Given the description of an element on the screen output the (x, y) to click on. 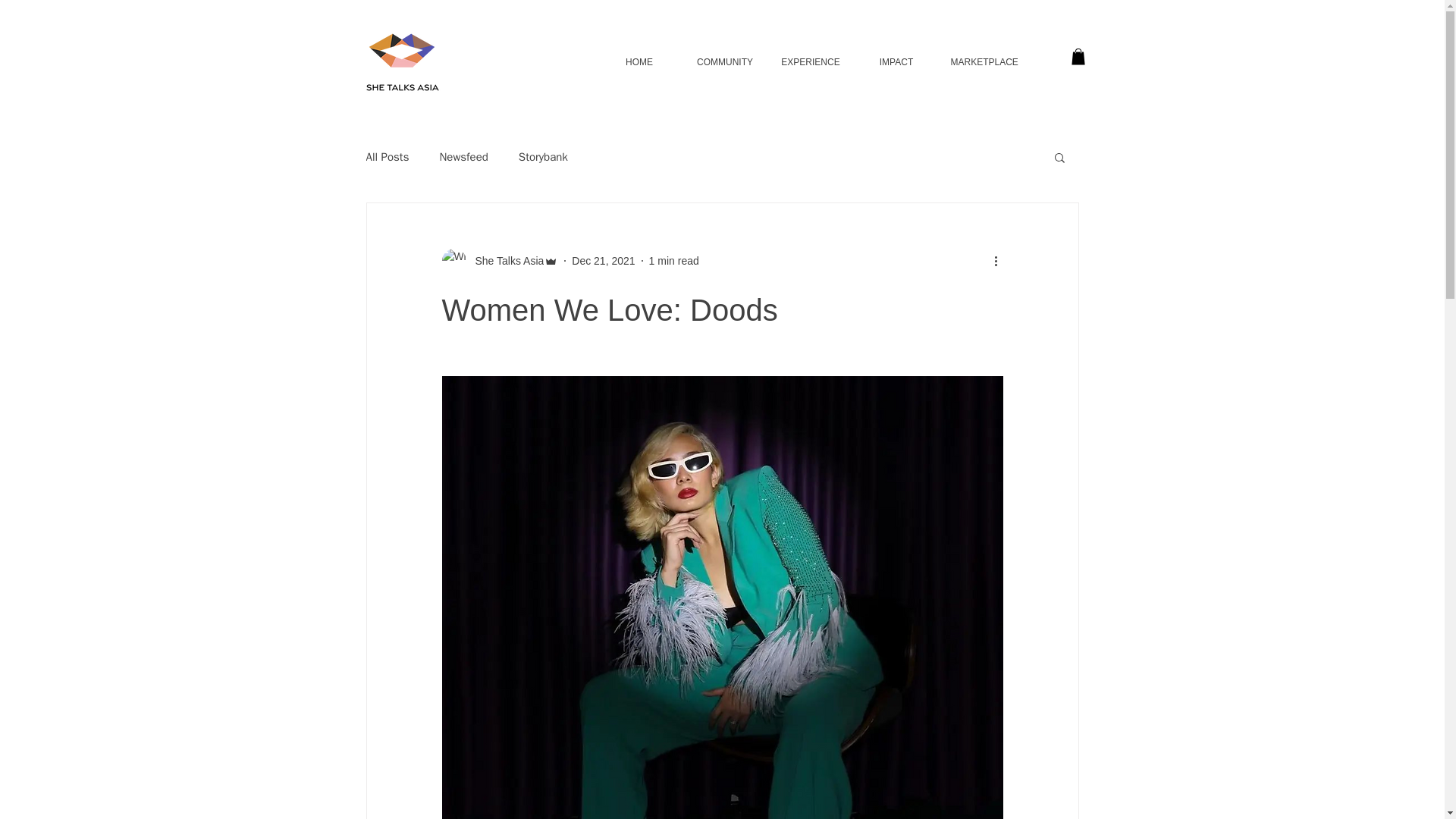
EXPERIENCE (810, 62)
IMPACT (896, 62)
COMMUNITY (725, 62)
MARKETPLACE (982, 62)
All Posts (387, 156)
She Talks Asia (504, 261)
Dec 21, 2021 (603, 260)
She Talks Asia (499, 260)
Storybank (542, 156)
1 min read (673, 260)
